Given the description of an element on the screen output the (x, y) to click on. 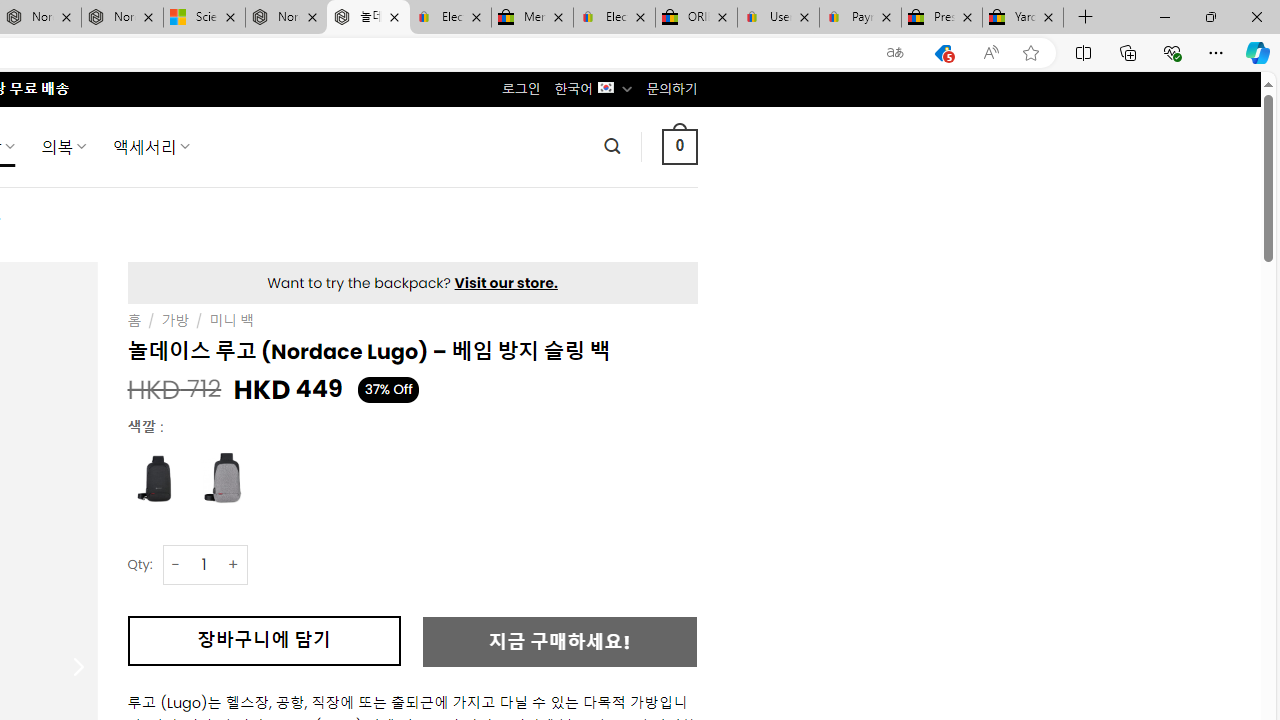
Electronics, Cars, Fashion, Collectibles & More | eBay (614, 17)
- (175, 564)
Payments Terms of Use | eBay.com (860, 17)
+ (234, 564)
